Given the description of an element on the screen output the (x, y) to click on. 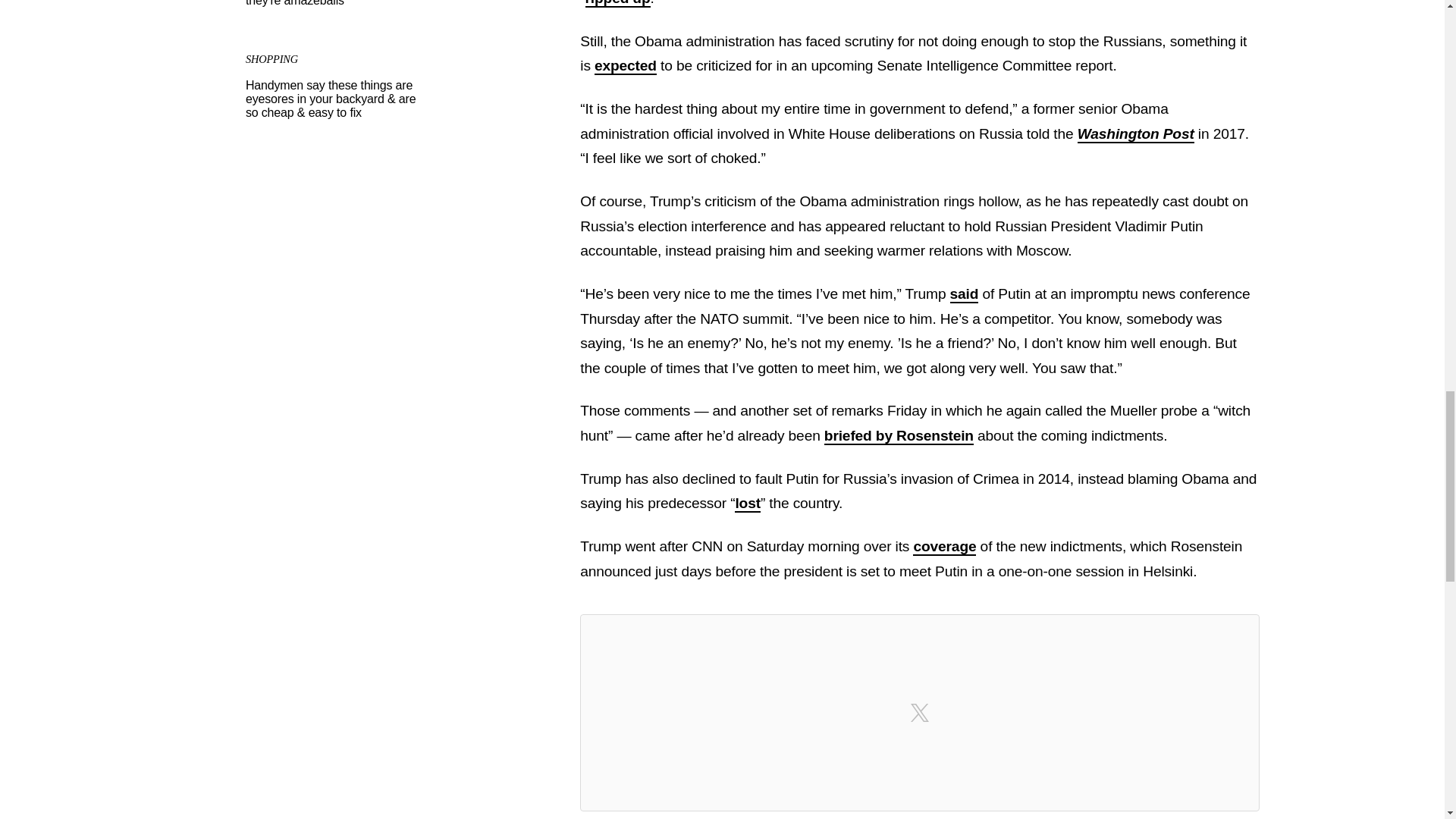
briefed by Rosenstein (899, 436)
ripped up (617, 3)
expected (625, 66)
Washington Post (1135, 134)
said (964, 294)
lost (747, 503)
coverage (943, 547)
